Given the description of an element on the screen output the (x, y) to click on. 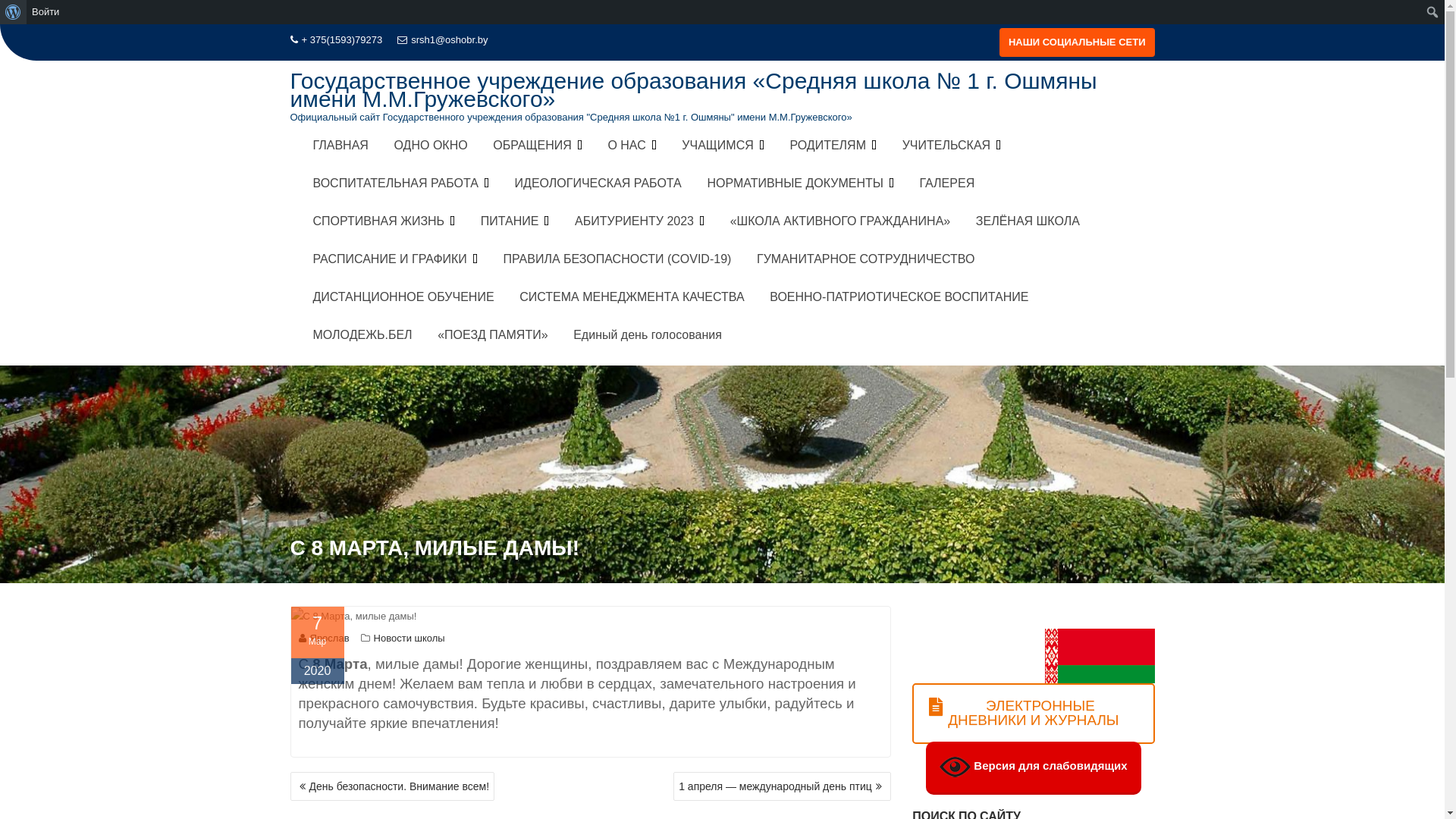
srsh1@oshobr.by Element type: text (442, 40)
20 Element type: hover (1099, 655)
